Given the description of an element on the screen output the (x, y) to click on. 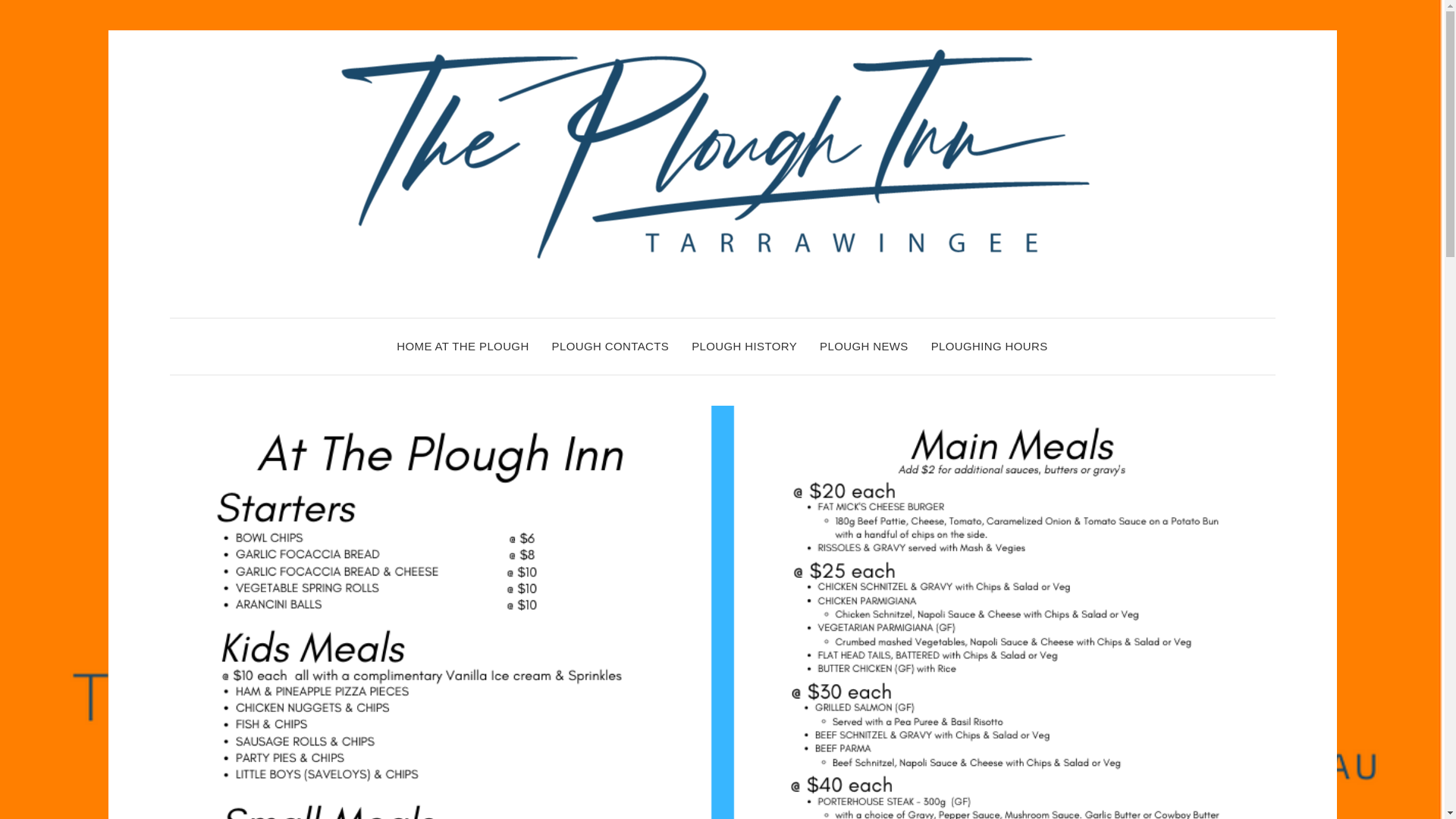
PLOUGH HISTORY (743, 346)
PLOUGHING HOURS (989, 346)
PLOUGH CONTACTS (610, 346)
HOME AT THE PLOUGH (462, 346)
PLOUGH NEWS (863, 346)
